Given the description of an element on the screen output the (x, y) to click on. 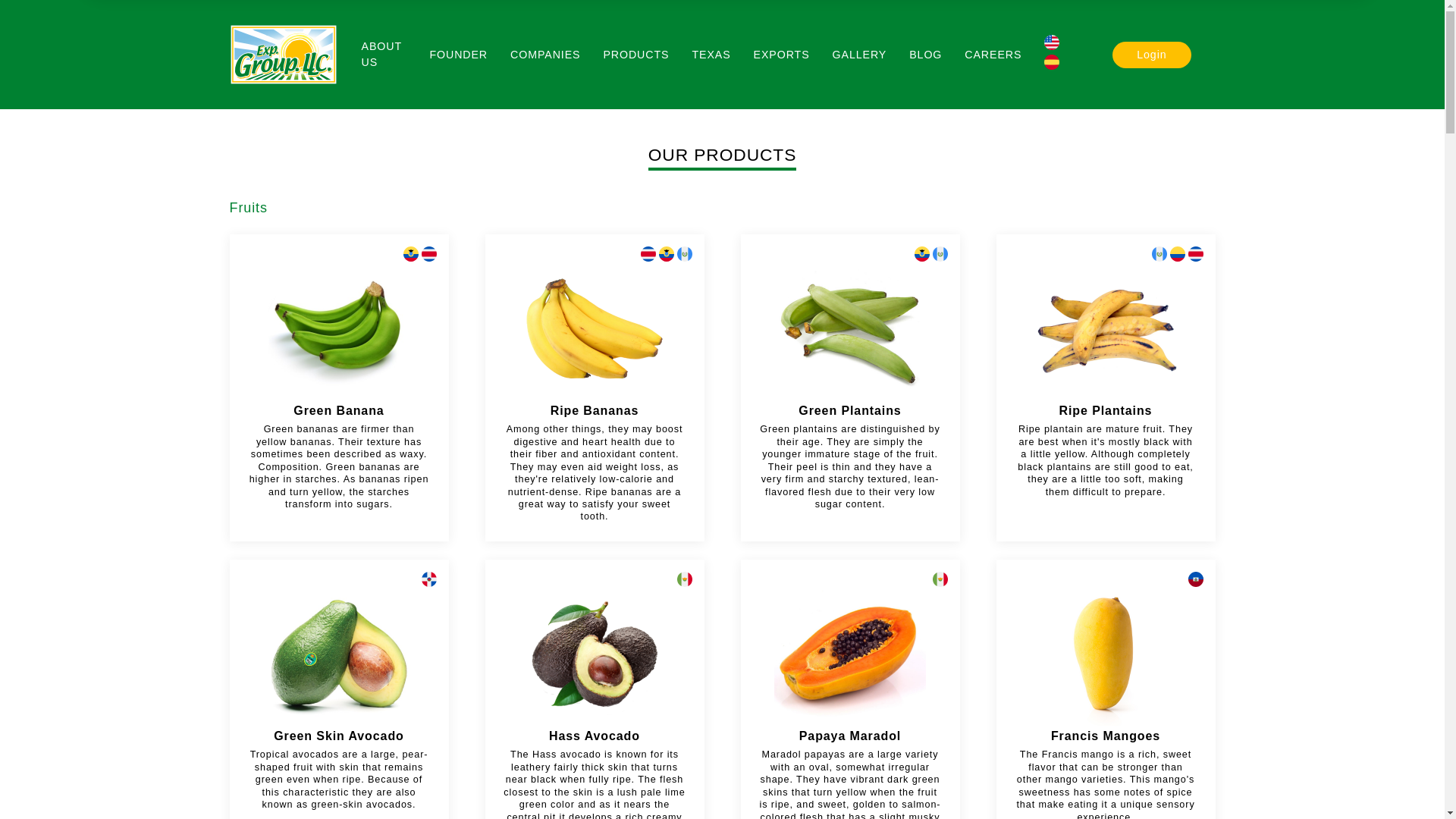
COMPANIES (545, 54)
Login (1151, 53)
CAREERS (992, 54)
EXPORTS (781, 54)
FOUNDER (458, 54)
PRODUCTS (635, 54)
GALLERY (859, 54)
ABOUT US (381, 53)
BLOG (925, 54)
TEXAS (710, 54)
